Given the description of an element on the screen output the (x, y) to click on. 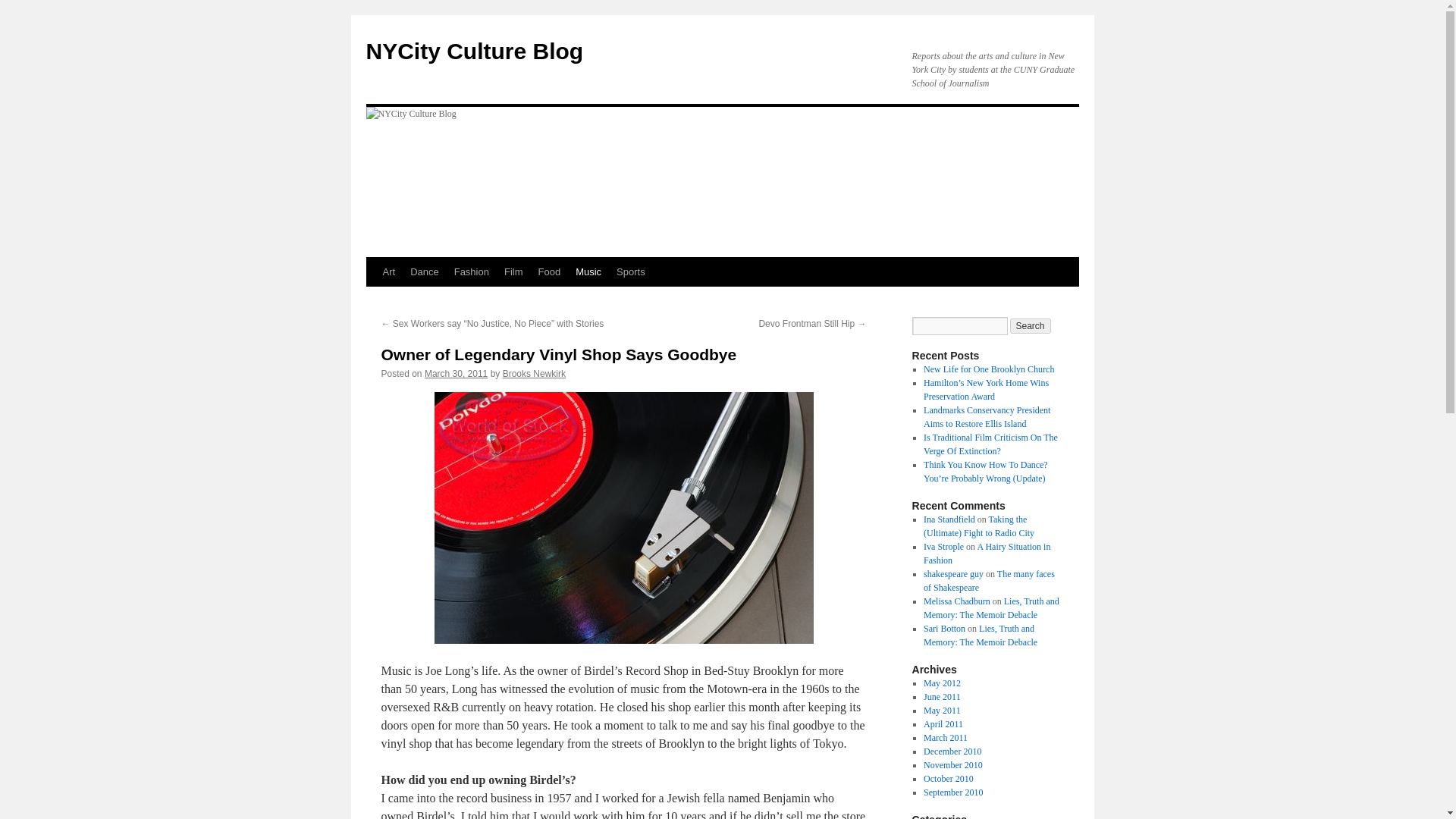
Fashion (471, 271)
A Hairy Situation in Fashion (986, 553)
Melissa Chadburn (956, 601)
Sari Botton (944, 628)
Iva Strople (943, 546)
March 30, 2011 (456, 373)
Search (1030, 325)
Skip to content (372, 300)
Art (388, 271)
New Life for One Brooklyn Church (988, 368)
Food (550, 271)
Ina Standfield (949, 519)
Music (587, 271)
May 2011 (941, 710)
June 2011 (941, 696)
